Given the description of an element on the screen output the (x, y) to click on. 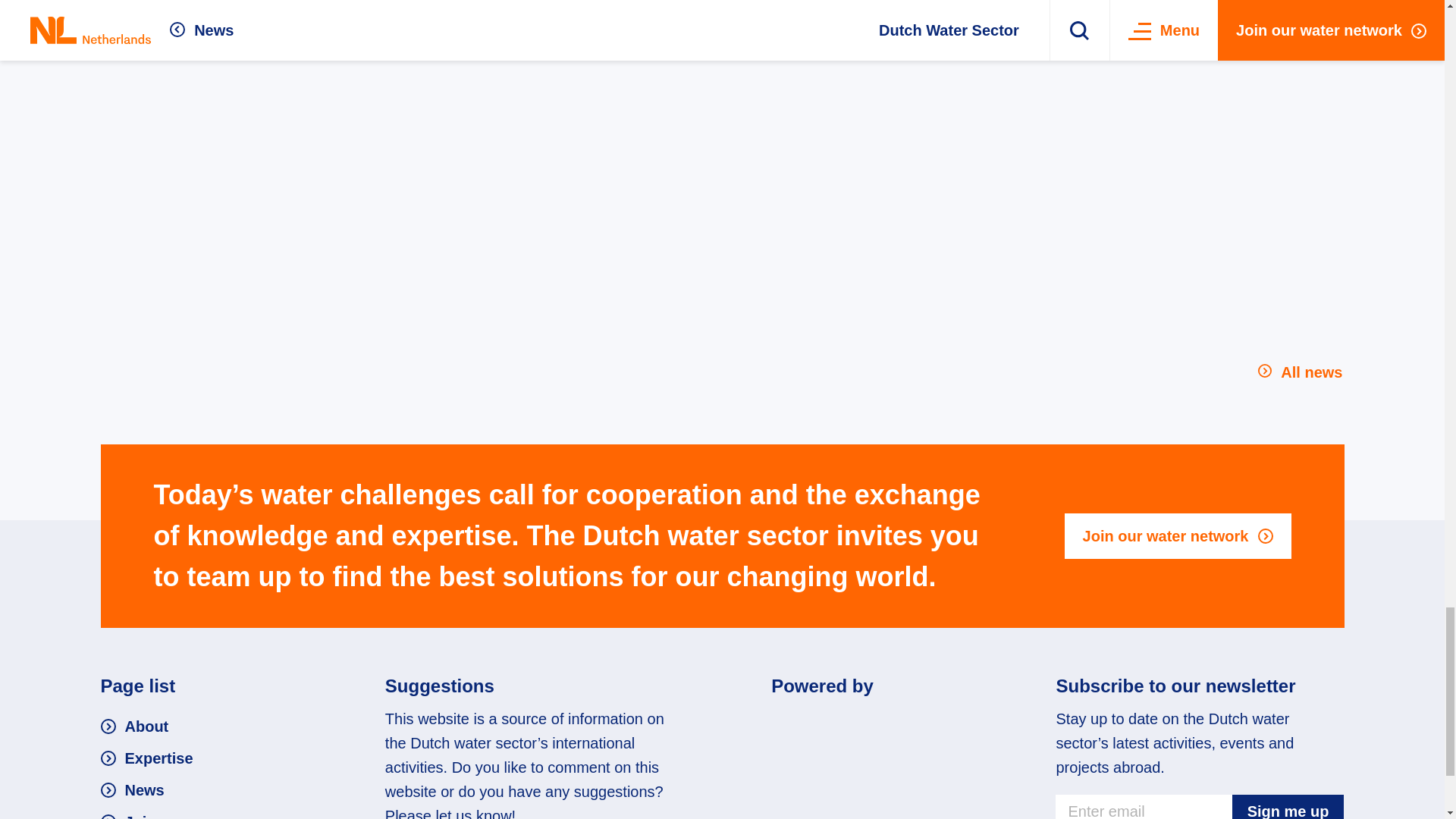
About (134, 726)
Image (864, 723)
Expertise (146, 758)
Join our water network (1177, 535)
News (131, 790)
All news (1300, 372)
